Given the description of an element on the screen output the (x, y) to click on. 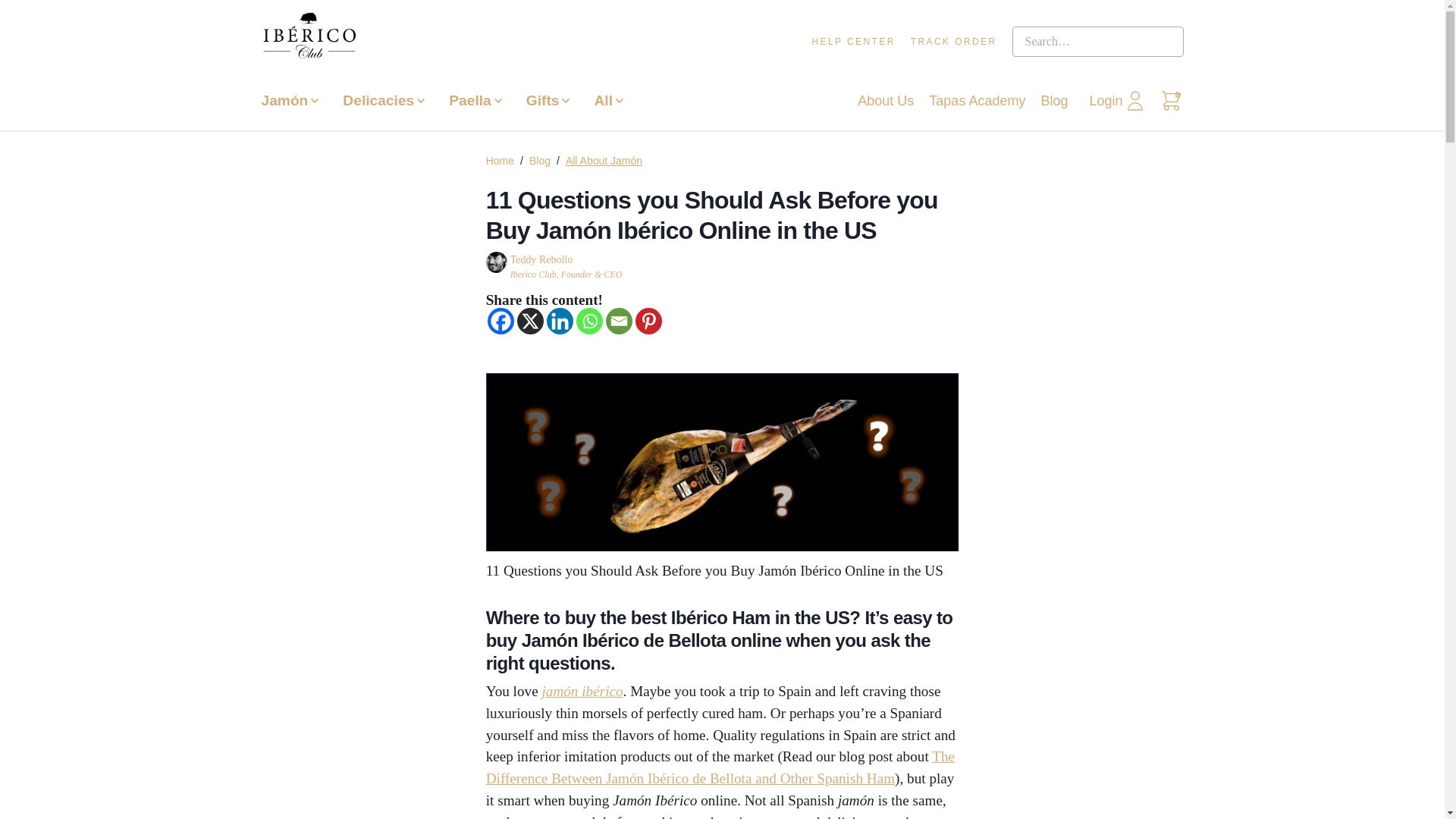
Linkedin (560, 320)
0 (1170, 100)
Blog (1053, 100)
Pinterest (648, 320)
TRACK ORDER (953, 41)
About Us (885, 100)
X (529, 320)
Login (1118, 100)
Email (618, 320)
Whatsapp (589, 320)
